Given the description of an element on the screen output the (x, y) to click on. 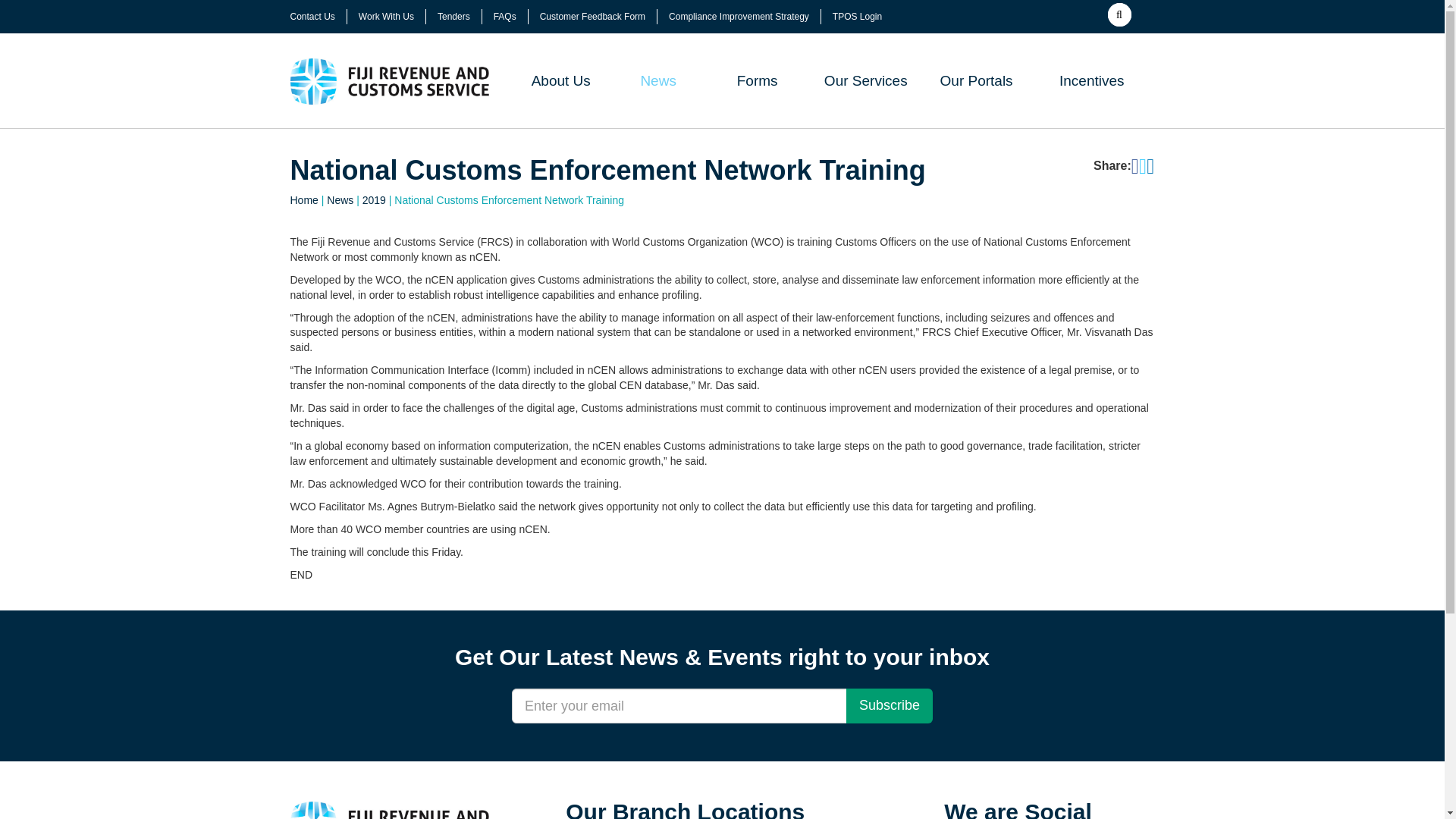
Work With Us (385, 16)
FAQs (504, 16)
Contact Us (311, 16)
Tenders (454, 16)
